Given the description of an element on the screen output the (x, y) to click on. 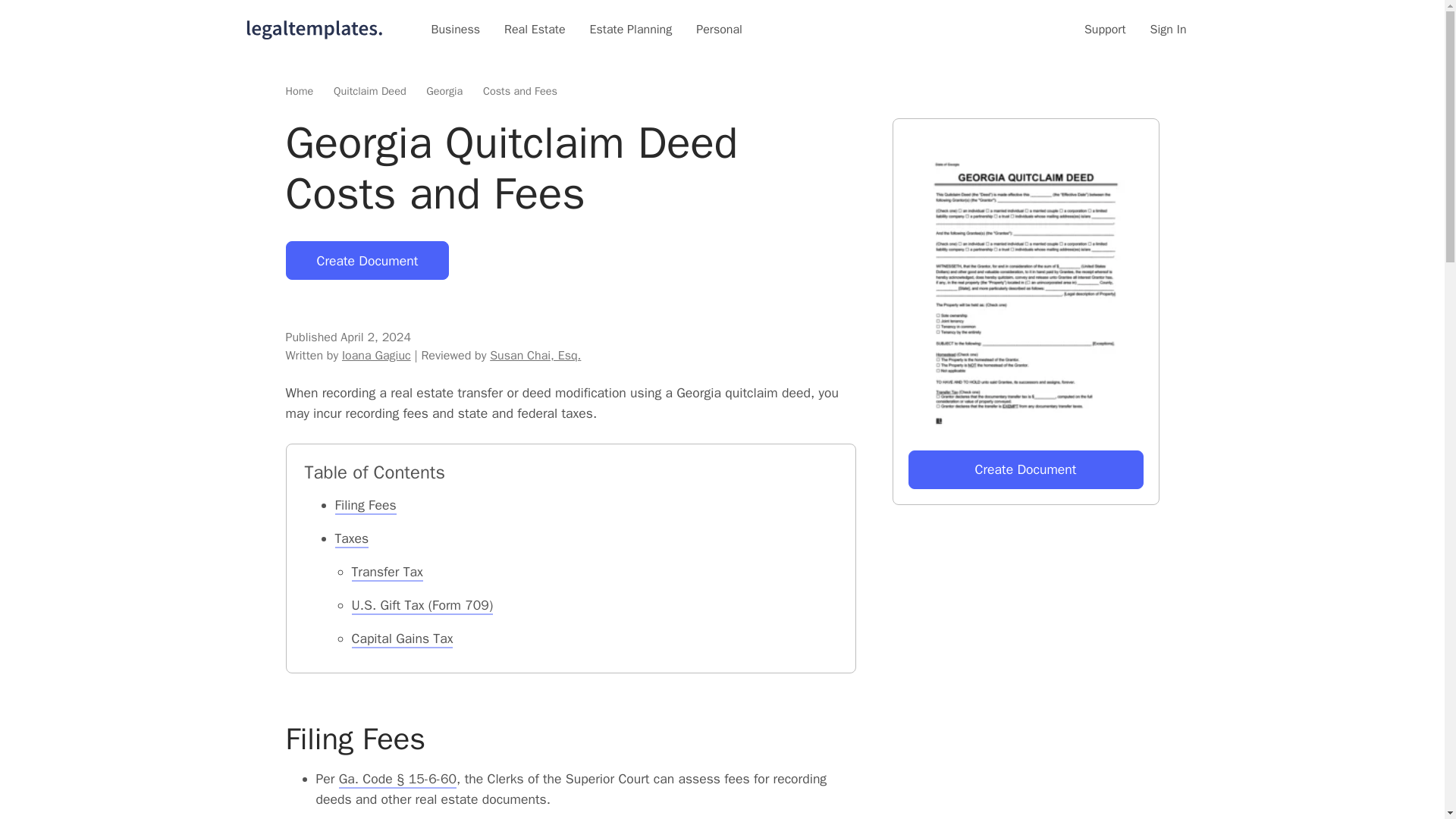
Real Estate (535, 29)
Support (1104, 29)
Personal (719, 29)
Estate Planning (631, 29)
Business (455, 29)
Legal Templates (313, 28)
